Given the description of an element on the screen output the (x, y) to click on. 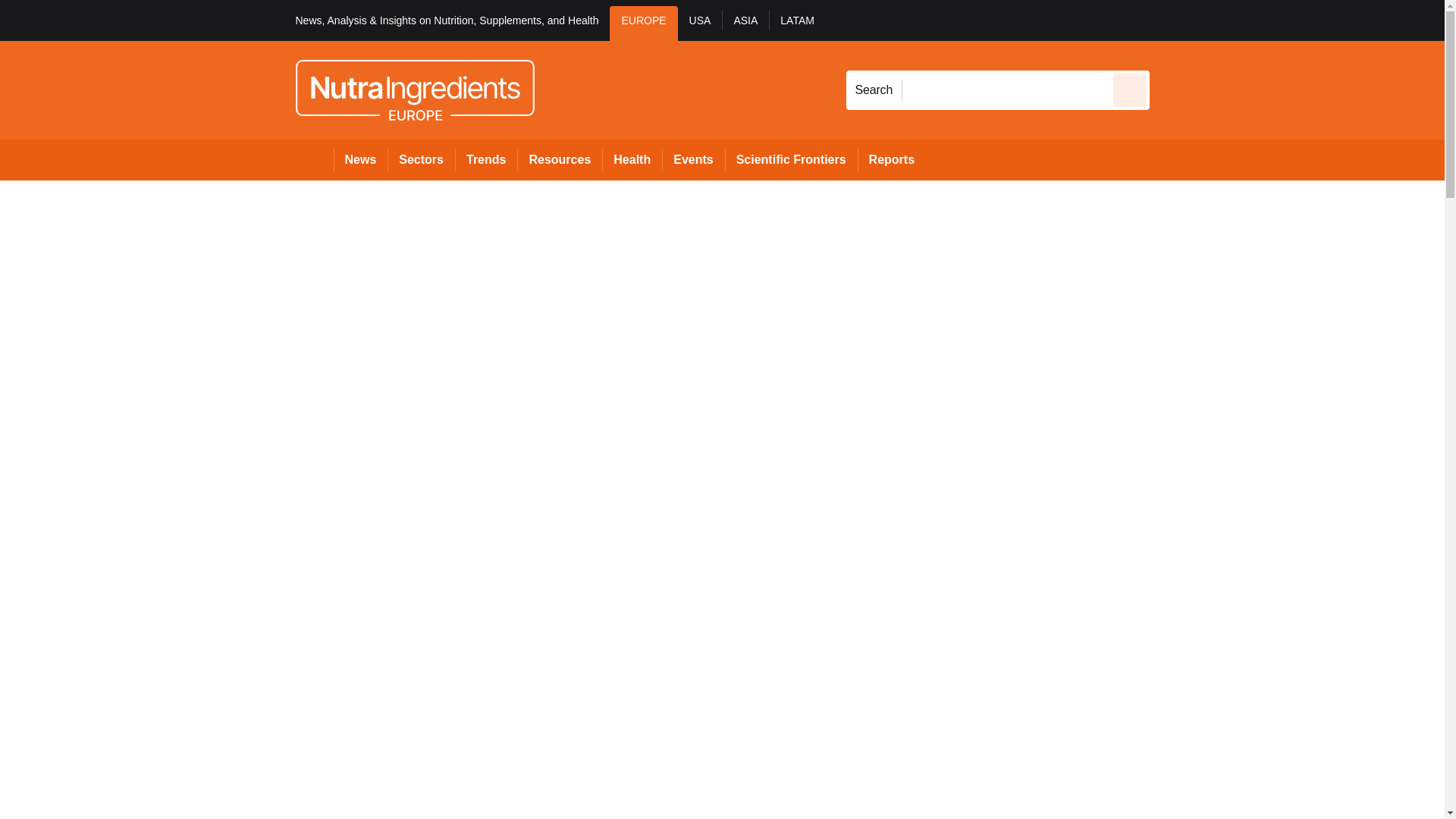
My account (1256, 20)
EUROPE (643, 22)
Sectors (420, 159)
Send (1129, 89)
Register (1231, 20)
SUBSCRIBE (1362, 20)
SUBSCRIBE (1318, 20)
News (360, 159)
Home (314, 159)
LATAM (796, 22)
